Given the description of an element on the screen output the (x, y) to click on. 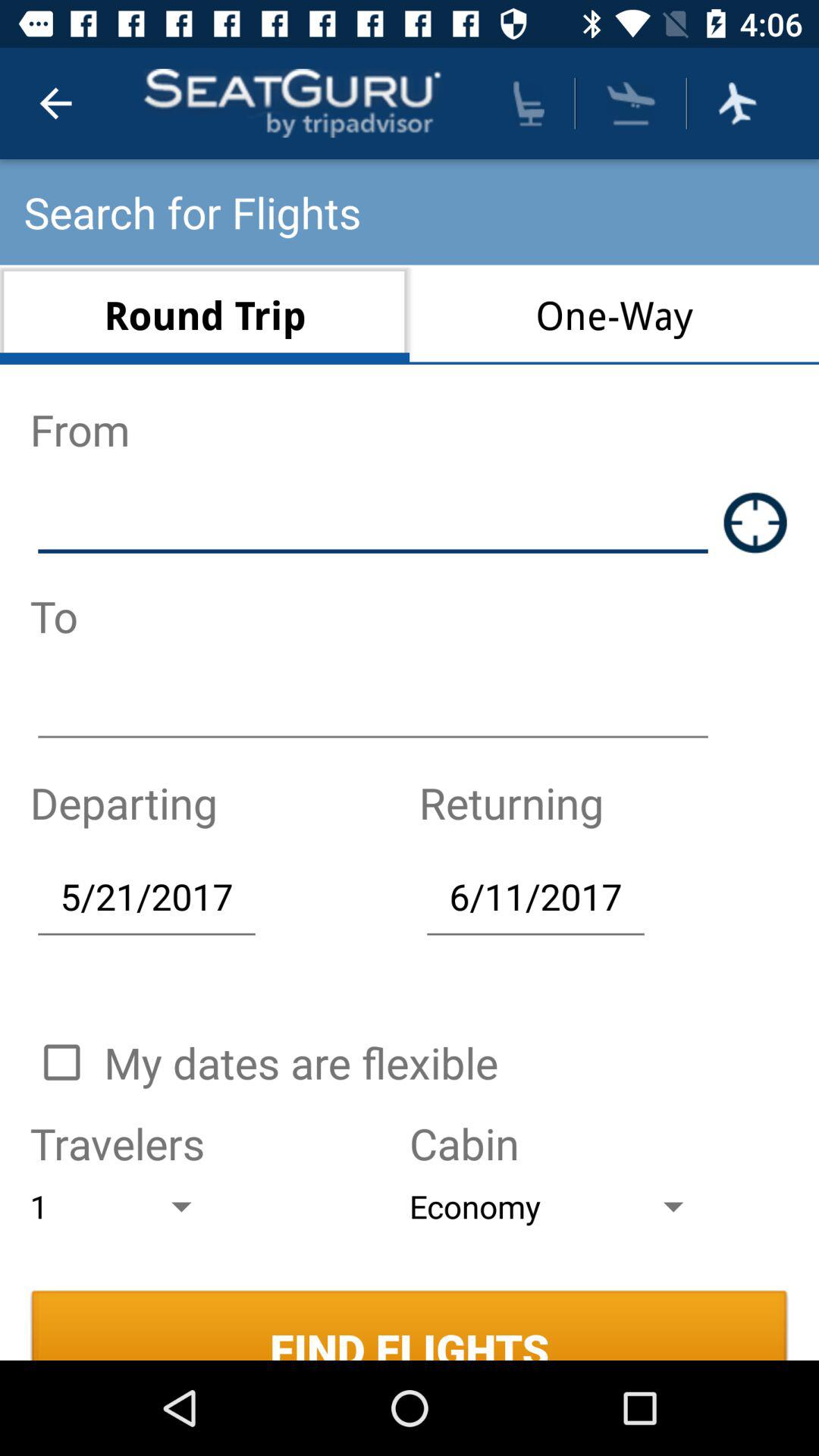
something to write bar (373, 708)
